Given the description of an element on the screen output the (x, y) to click on. 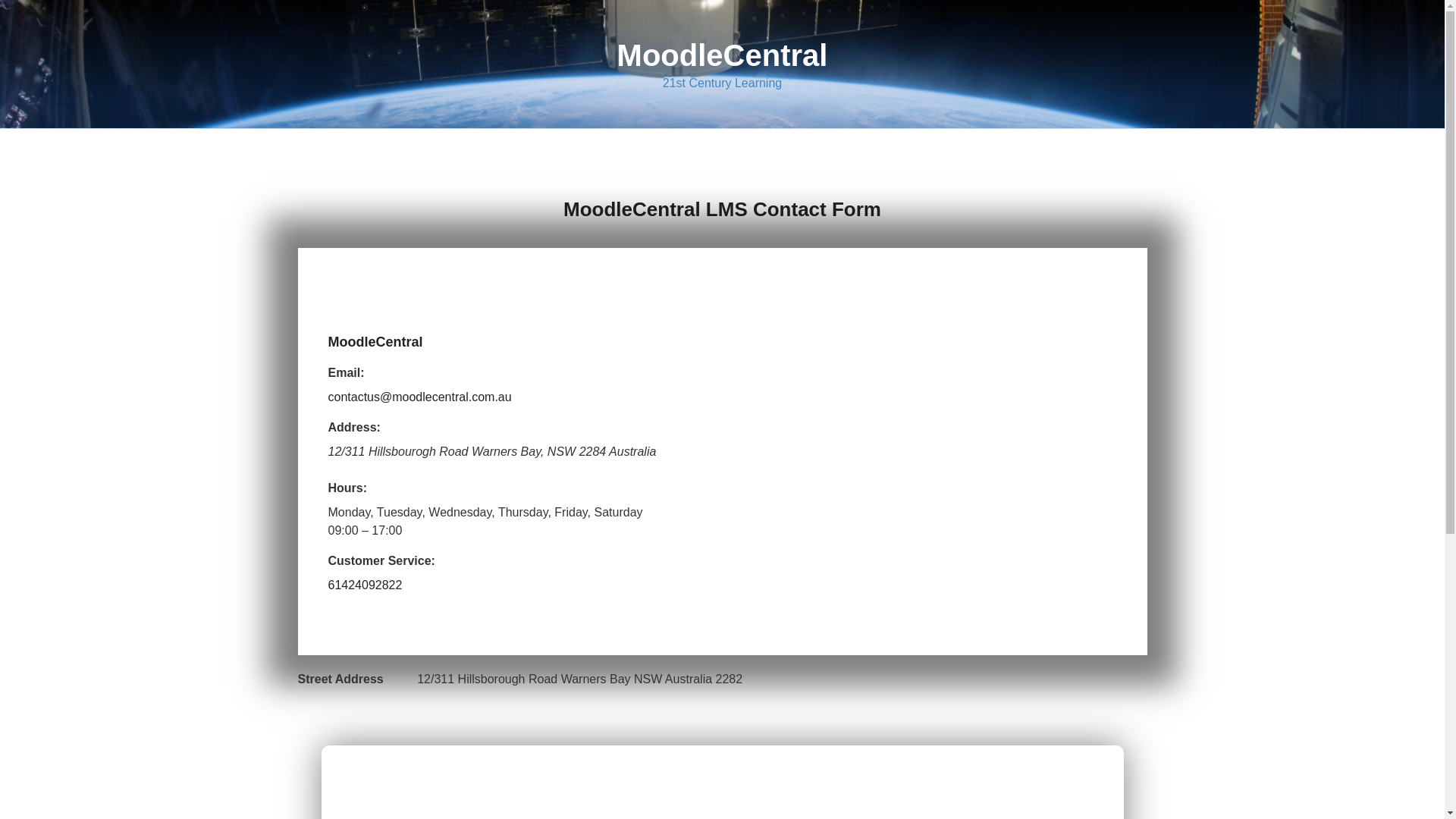
MoodleCentral Element type: text (374, 341)
61424092822 Element type: text (364, 584)
MoodleCentral Element type: text (722, 55)
contactus@moodlecentral.com.au Element type: text (419, 396)
